Given the description of an element on the screen output the (x, y) to click on. 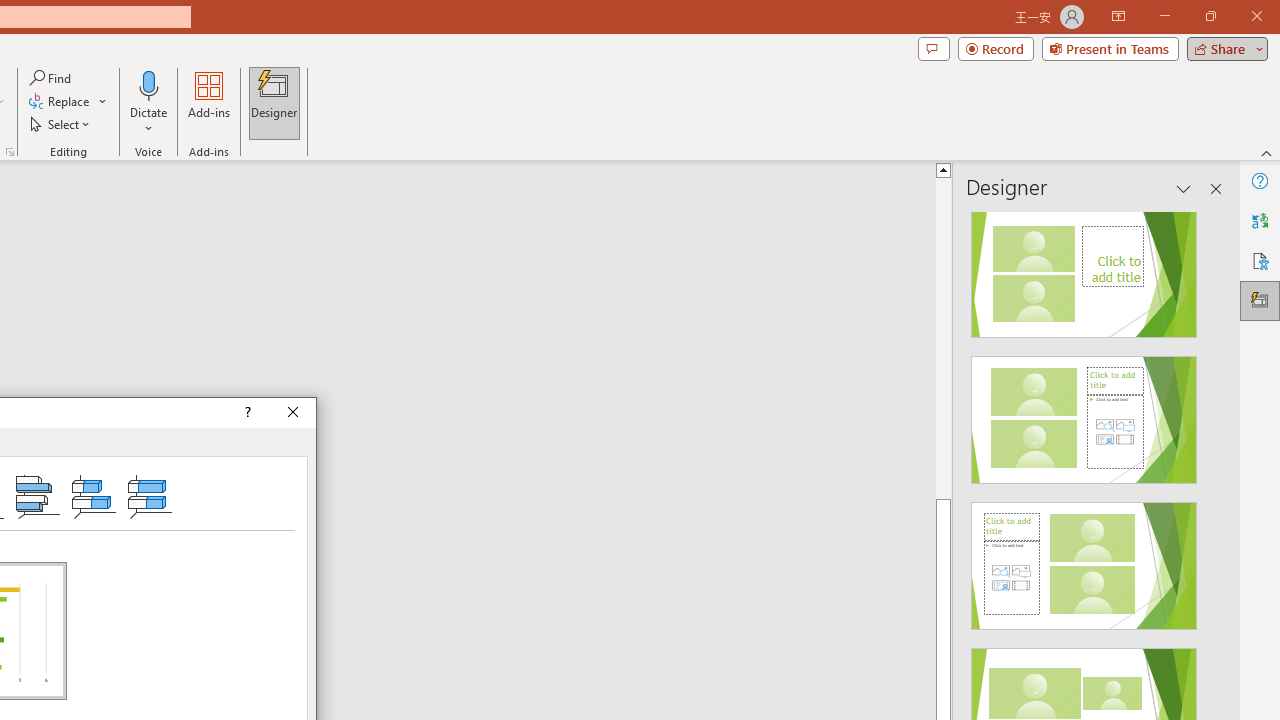
Recommended Design: Design Idea (1083, 268)
